Given the description of an element on the screen output the (x, y) to click on. 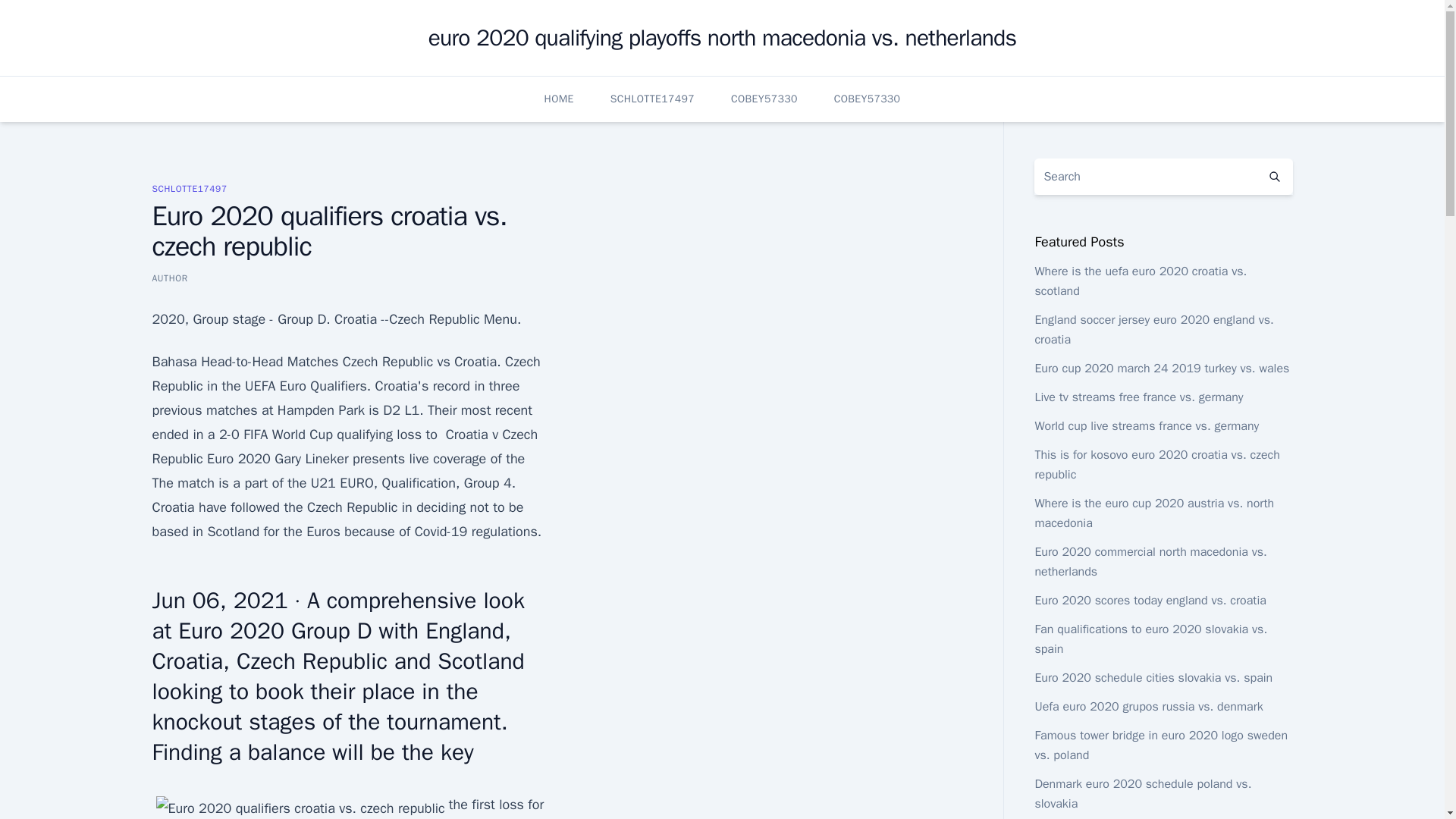
This is for kosovo euro 2020 croatia vs. czech republic (1156, 464)
Euro 2020 commercial north macedonia vs. netherlands (1149, 561)
Uefa euro 2020 grupos russia vs. denmark (1147, 706)
COBEY57330 (763, 99)
Live tv streams free france vs. germany (1138, 396)
Fan qualifications to euro 2020 slovakia vs. spain (1149, 638)
SCHLOTTE17497 (652, 99)
AUTHOR (169, 277)
Where is the uefa euro 2020 croatia vs. scotland (1139, 280)
Euro cup 2020 march 24 2019 turkey vs. wales (1160, 368)
Euro 2020 schedule cities slovakia vs. spain (1152, 677)
England soccer jersey euro 2020 england vs. croatia (1152, 329)
Where is the euro cup 2020 austria vs. north macedonia (1153, 513)
SCHLOTTE17497 (189, 188)
